Given the description of an element on the screen output the (x, y) to click on. 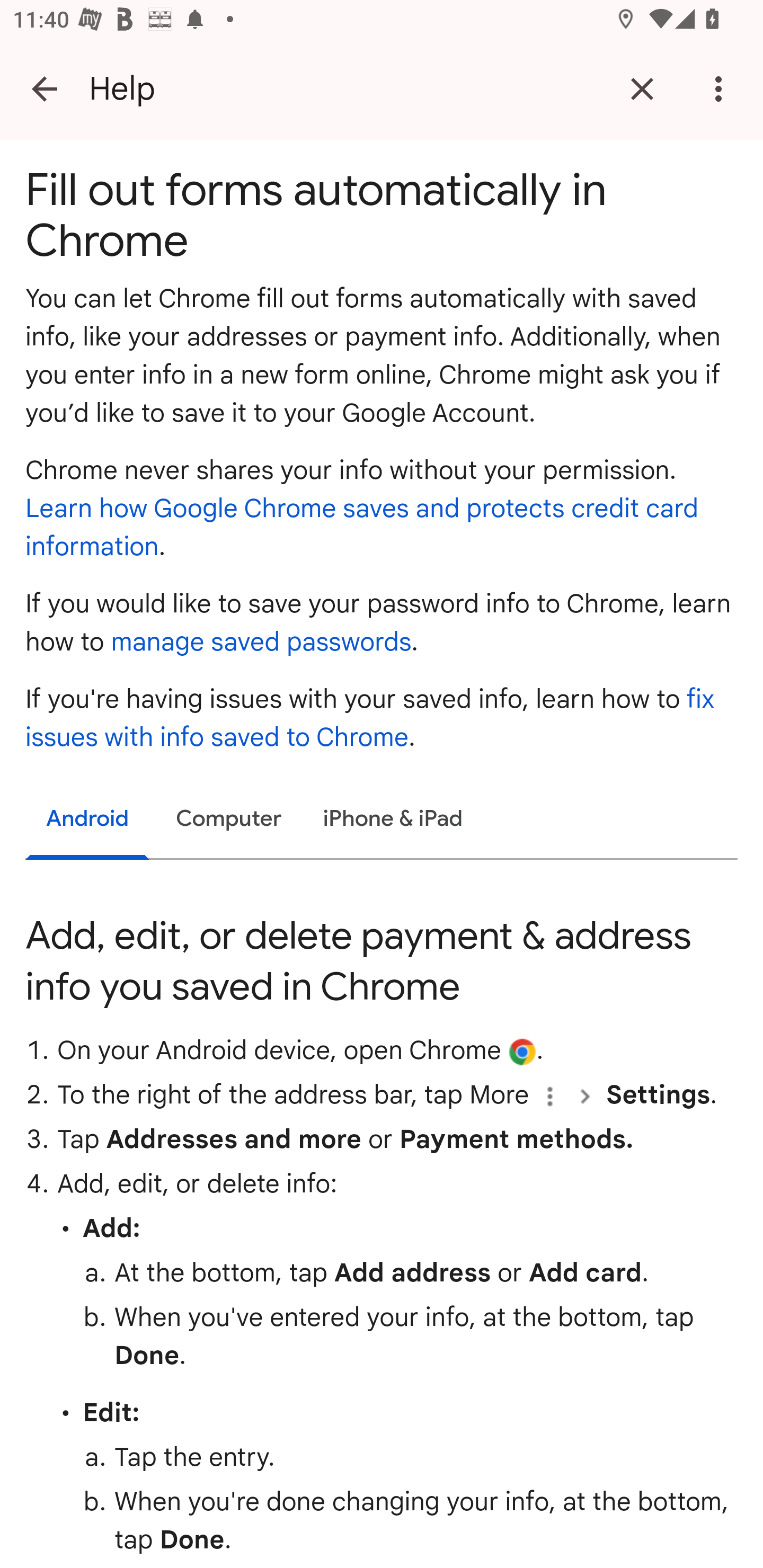
Navigate up (44, 88)
Return to Chrome (642, 88)
More options (721, 88)
manage saved passwords (260, 641)
fix issues with info saved to Chrome (370, 717)
Android (88, 820)
Computer (228, 819)
iPhone & iPad (393, 819)
